Given the description of an element on the screen output the (x, y) to click on. 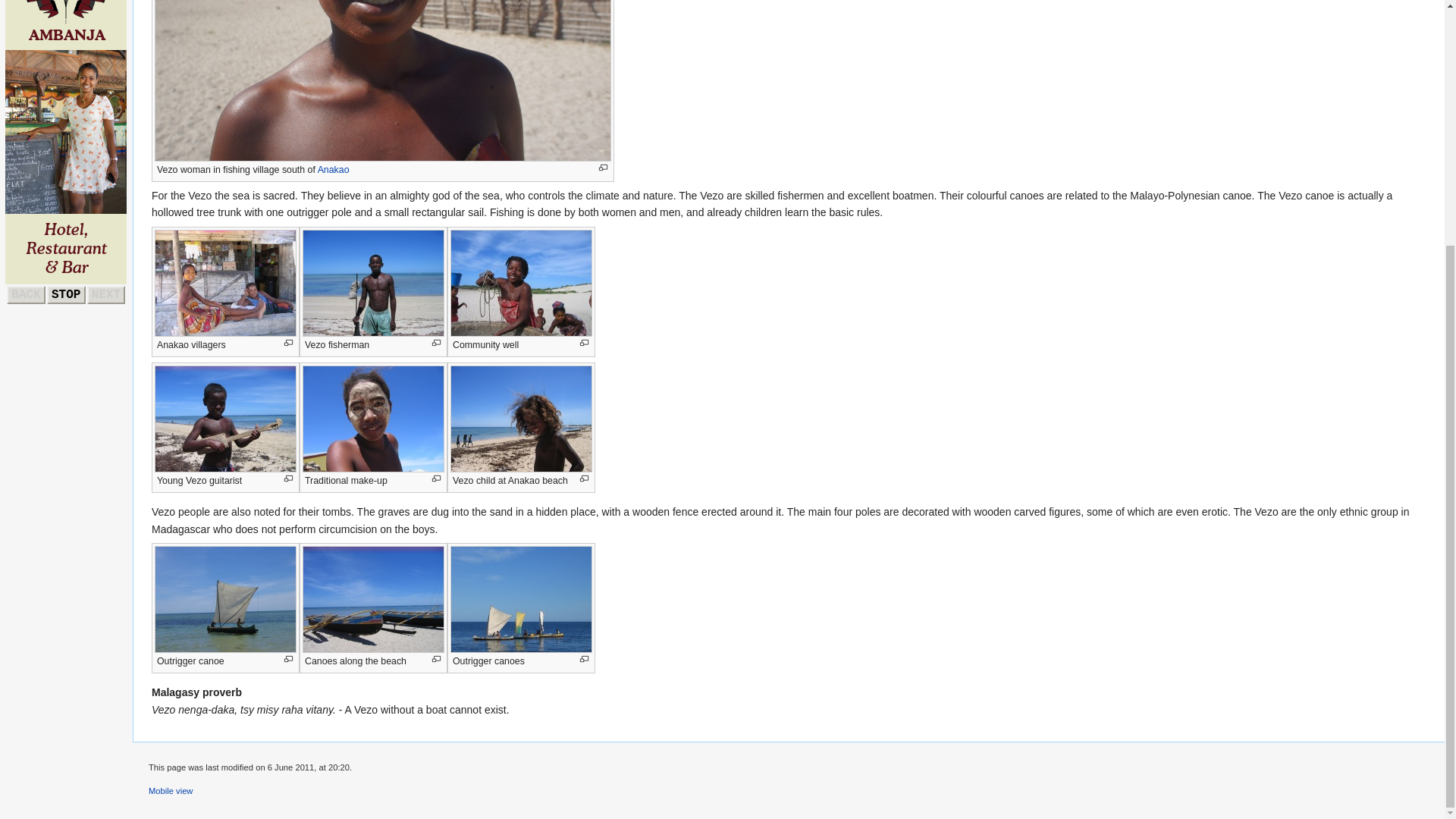
Enlarge (583, 343)
Enlarge (288, 659)
Enlarge (602, 167)
Enlarge (436, 659)
Enlarge (583, 479)
Enlarge (436, 479)
Enlarge (288, 479)
Anakao (333, 169)
Enlarge (436, 343)
Enlarge (583, 659)
